Given the description of an element on the screen output the (x, y) to click on. 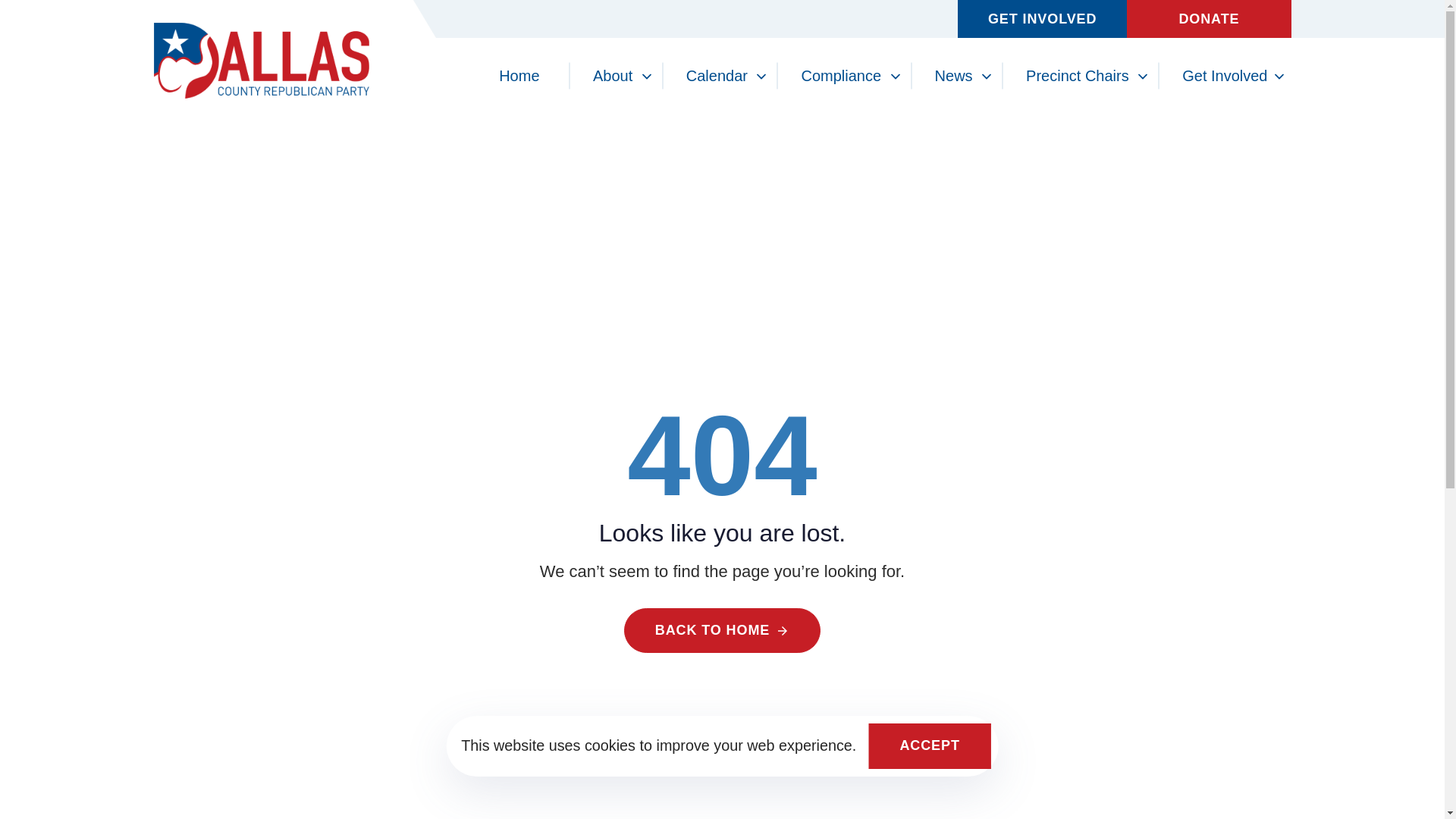
GET INVOLVED (1042, 18)
Compliance (840, 75)
Calendar (716, 75)
DONATE (1208, 18)
Home (518, 75)
About (612, 75)
Get Involved (1222, 75)
News (952, 75)
Precinct Chairs (1076, 75)
